Given the description of an element on the screen output the (x, y) to click on. 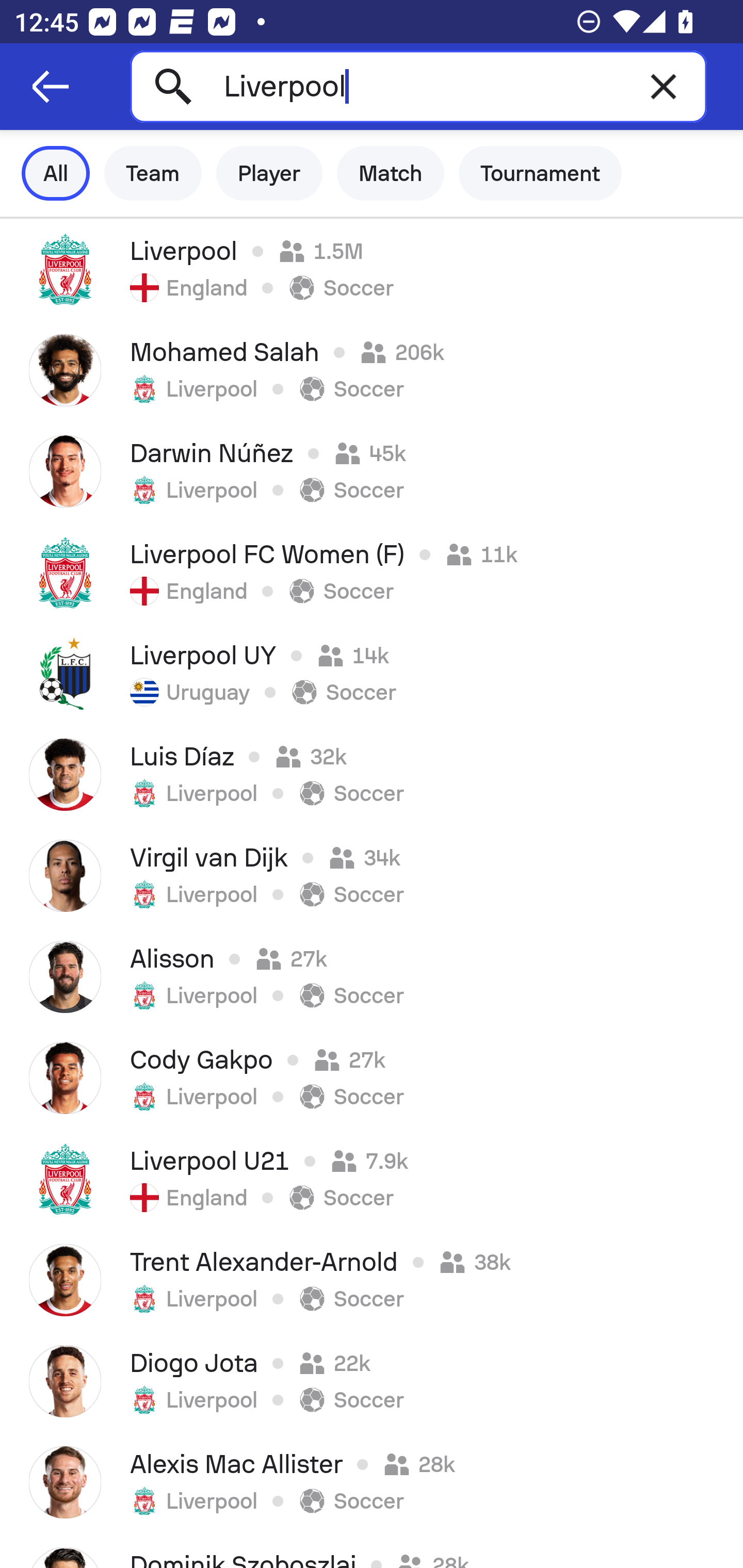
Navigate up (50, 86)
Liverpool (418, 86)
Clear text (663, 86)
All (55, 172)
Team (152, 172)
Player (268, 172)
Match (390, 172)
Tournament (540, 172)
Liverpool 1.5M England Soccer (371, 268)
Mohamed Salah 206k Liverpool Soccer (371, 369)
Darwin Núñez 45k Liverpool Soccer (371, 471)
Liverpool FC Women (F) 11k England Soccer (371, 572)
Liverpool UY 14k Uruguay Soccer (371, 673)
Luis Díaz 32k Liverpool Soccer (371, 774)
Virgil van Dijk 34k Liverpool Soccer (371, 875)
Alisson 27k Liverpool Soccer (371, 976)
Cody Gakpo 27k Liverpool Soccer (371, 1077)
Liverpool U21 7.9k England Soccer (371, 1178)
Trent Alexander-Arnold 38k Liverpool Soccer (371, 1280)
Diogo Jota 22k Liverpool Soccer (371, 1381)
Alexis Mac Allister 28k Liverpool Soccer (371, 1482)
